Given the description of an element on the screen output the (x, y) to click on. 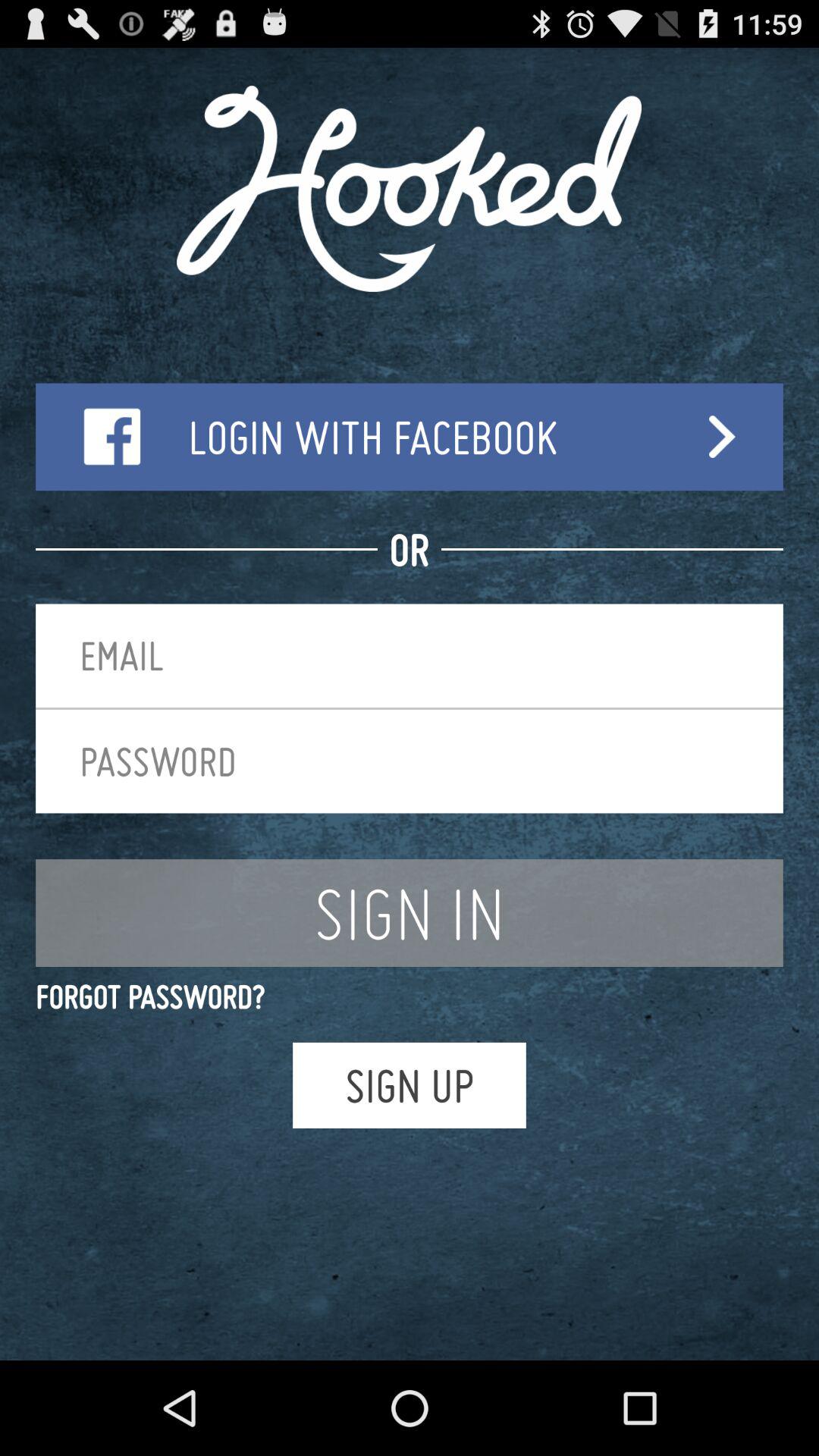
click the forgot password? app (409, 996)
